Given the description of an element on the screen output the (x, y) to click on. 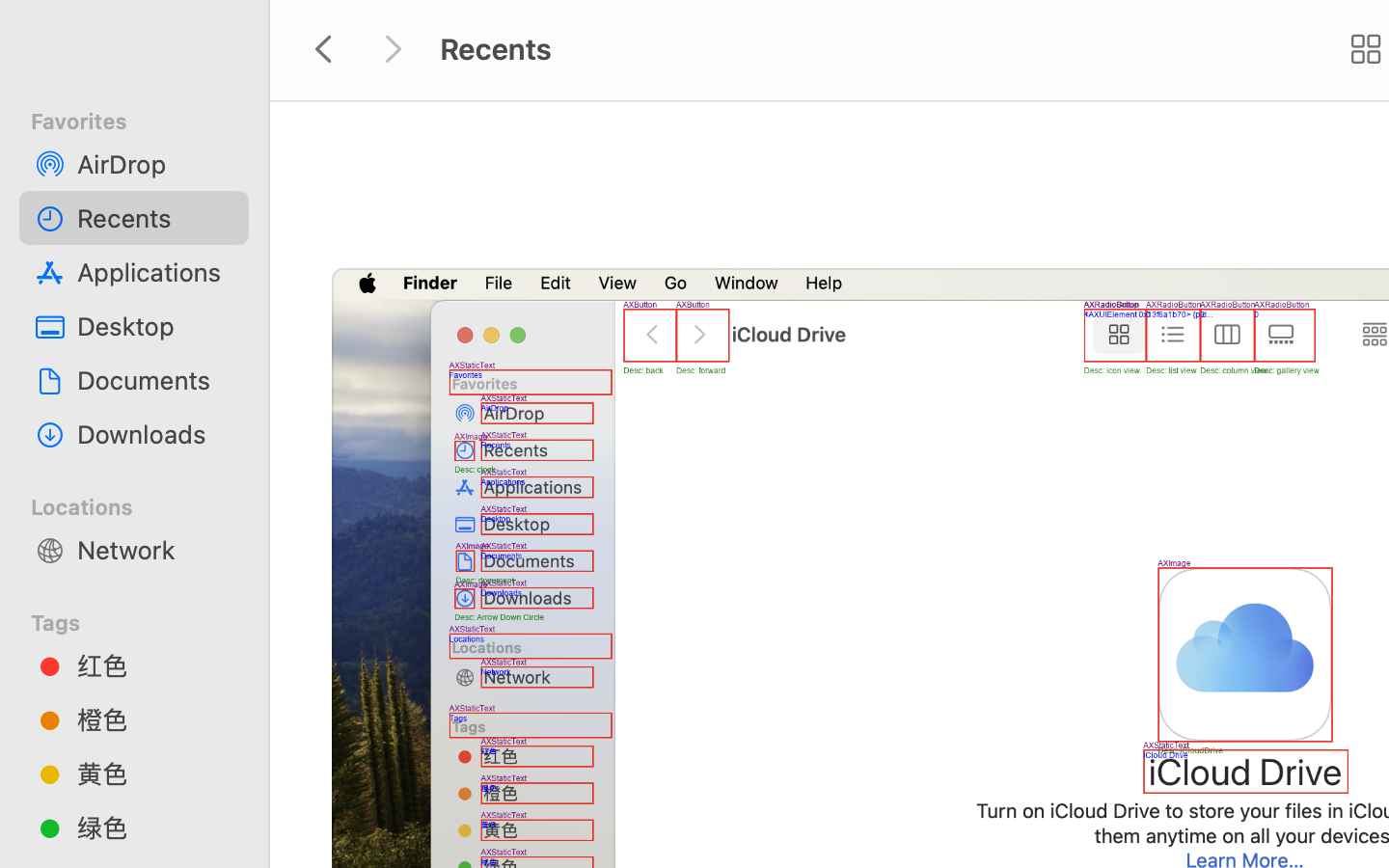
Recents Element type: AXStaticText (155, 217)
Tags Element type: AXStaticText (145, 619)
Desktop Element type: AXStaticText (155, 325)
橙色 Element type: AXStaticText (155, 719)
红色 Element type: AXStaticText (155, 665)
